Given the description of an element on the screen output the (x, y) to click on. 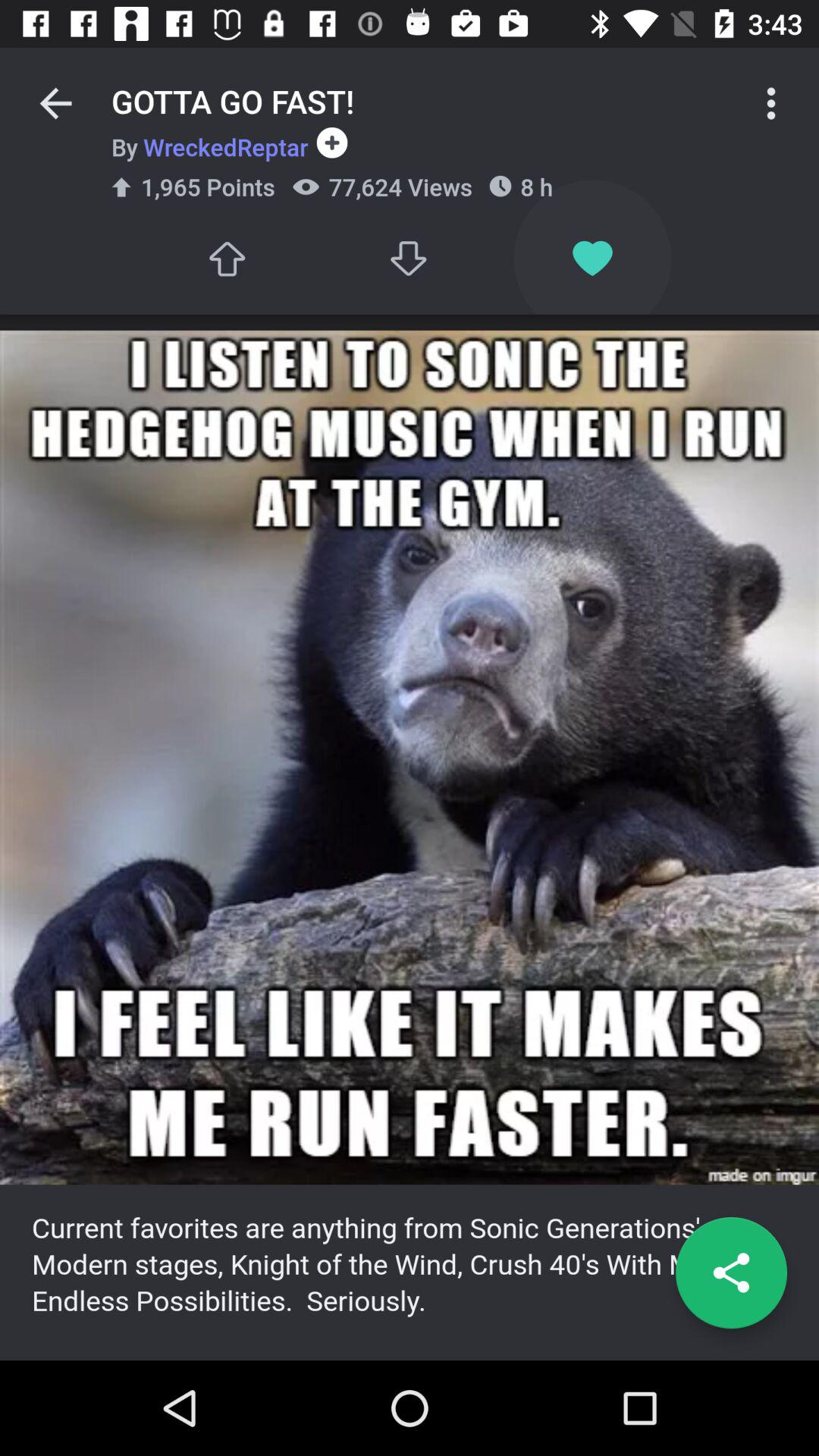
go down (409, 258)
